Given the description of an element on the screen output the (x, y) to click on. 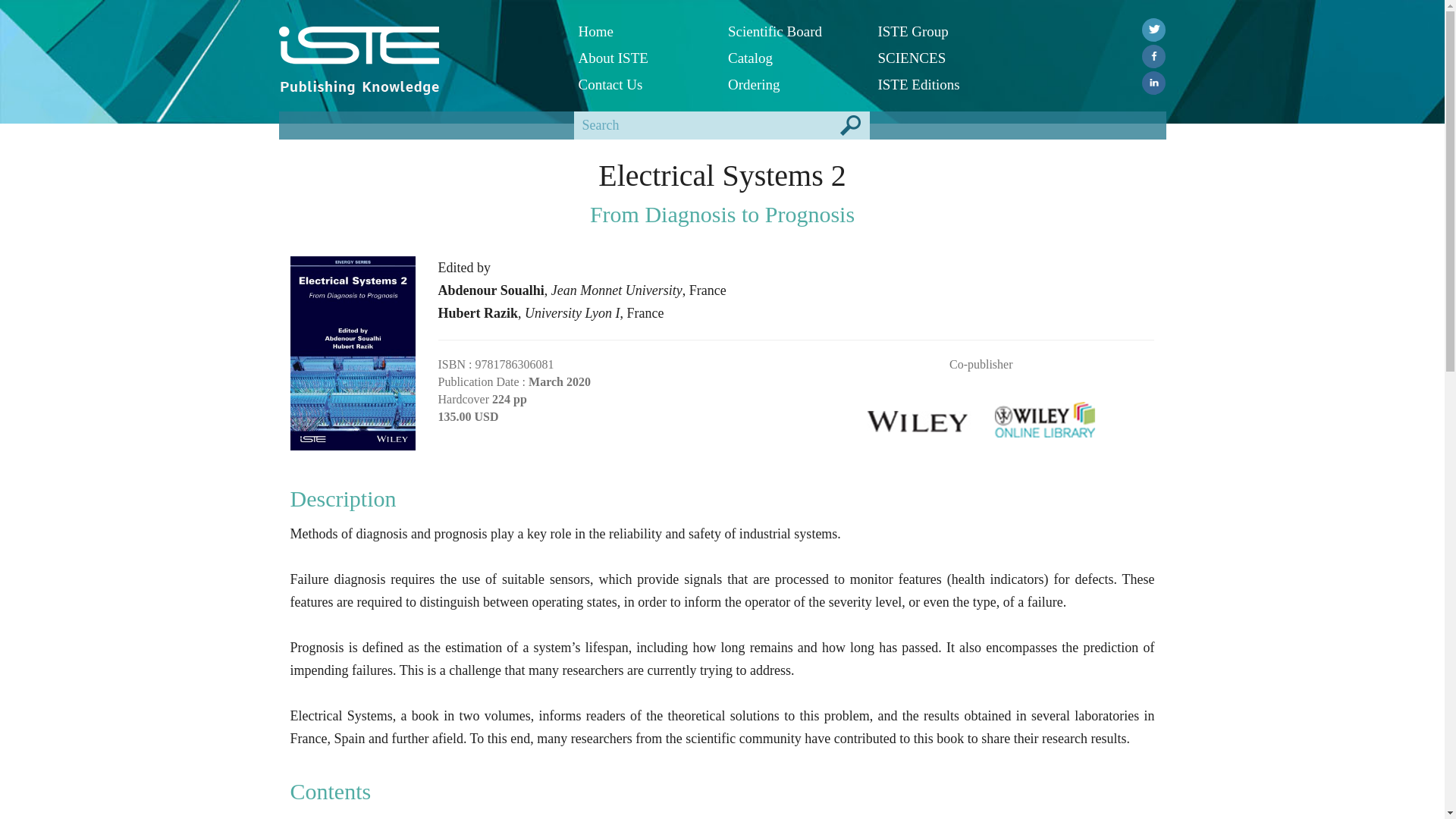
ISTE (417, 46)
ISTE (359, 49)
ISTE Group (940, 31)
Home (641, 31)
SCIENCES (940, 58)
Ordering (791, 84)
Facebook (1153, 56)
Wiley Online Library (1044, 415)
About ISTE (641, 58)
